Given the description of an element on the screen output the (x, y) to click on. 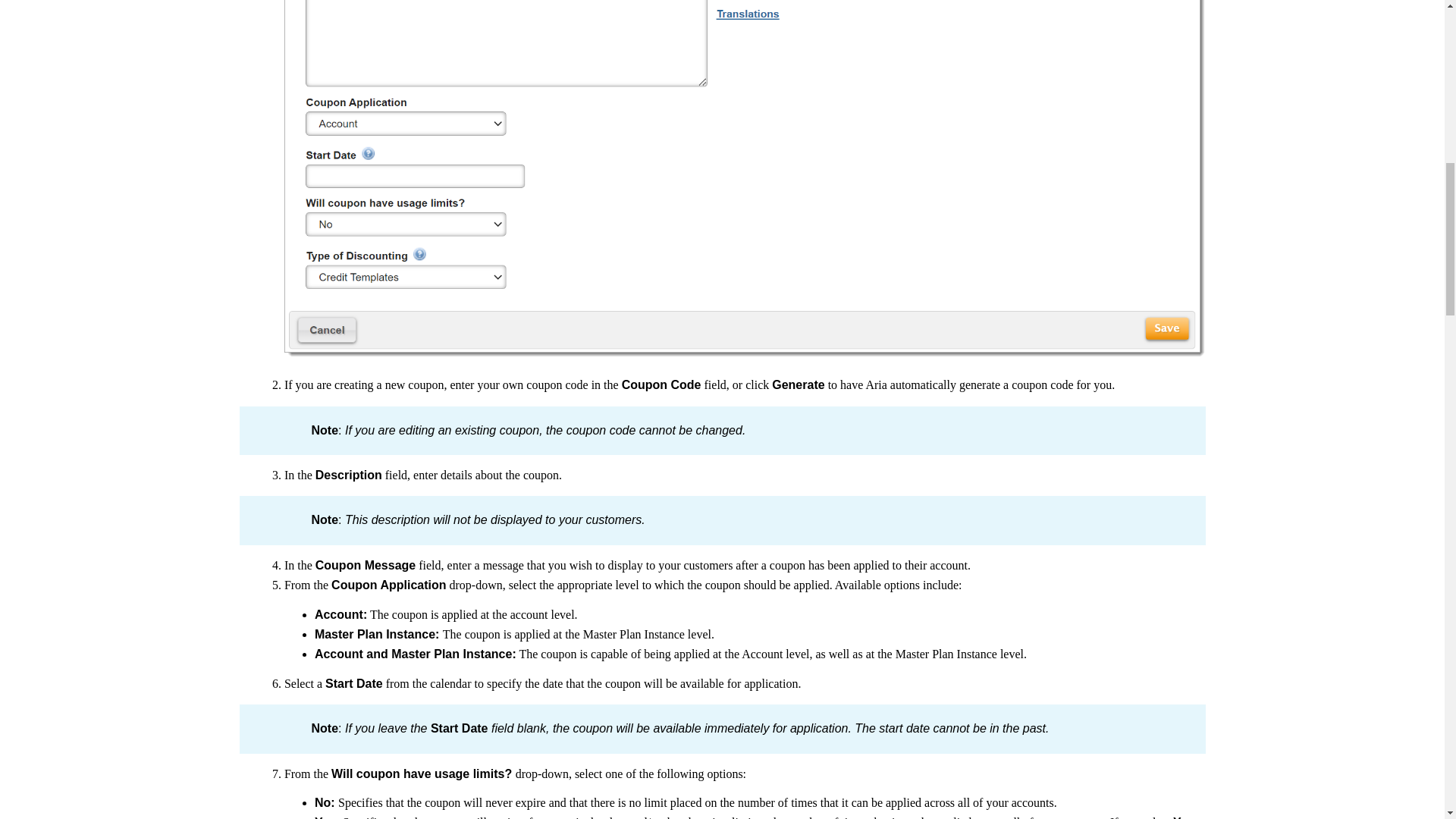
body-text (721, 624)
body-text (721, 475)
body-text (721, 792)
